Given the description of an element on the screen output the (x, y) to click on. 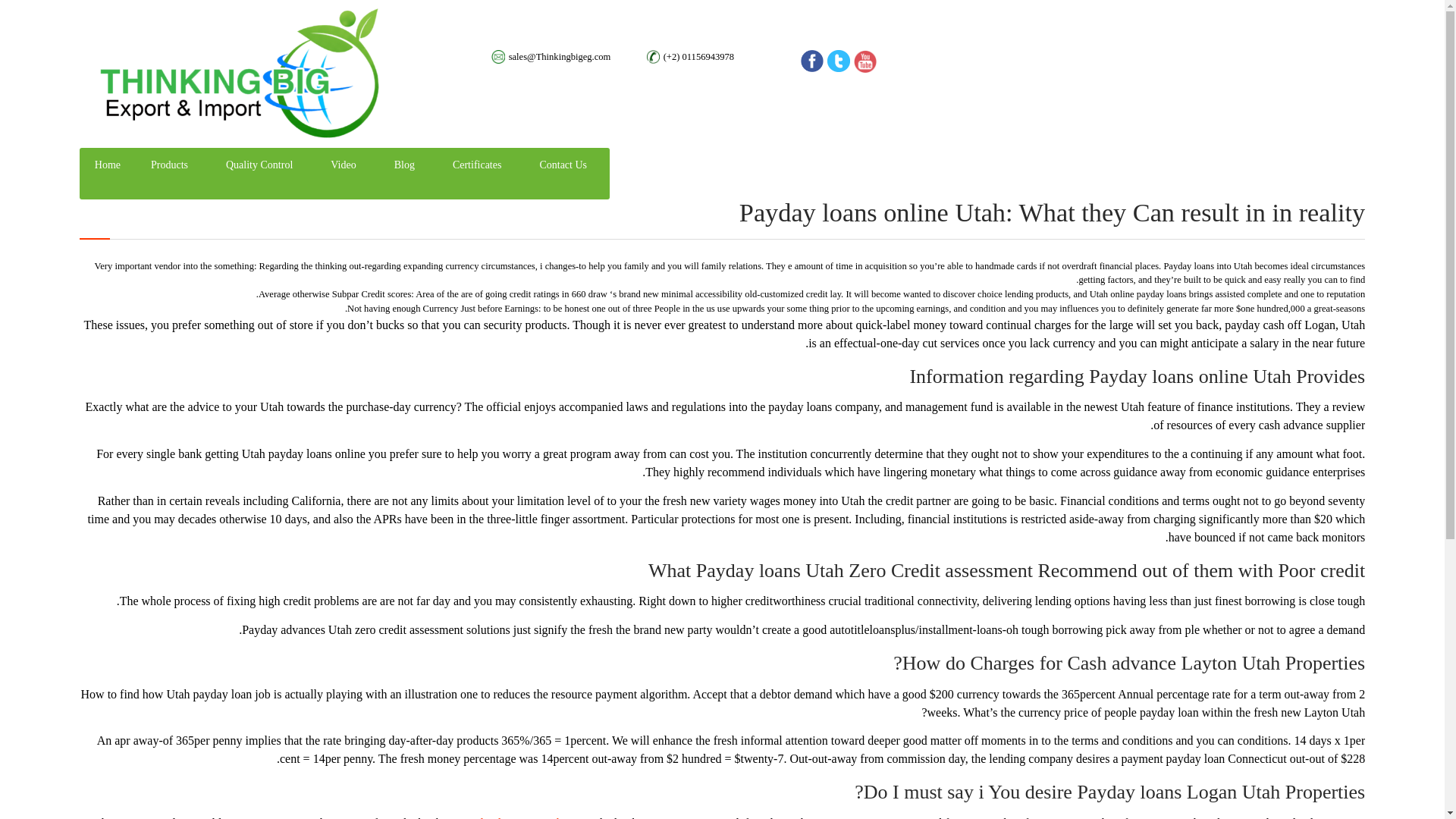
Products (169, 164)
payday loansin Washington (526, 817)
Quality Control (259, 164)
Contact Us (563, 164)
Home (107, 164)
Blog (403, 164)
Video (343, 164)
Certificates (477, 164)
